Given the description of an element on the screen output the (x, y) to click on. 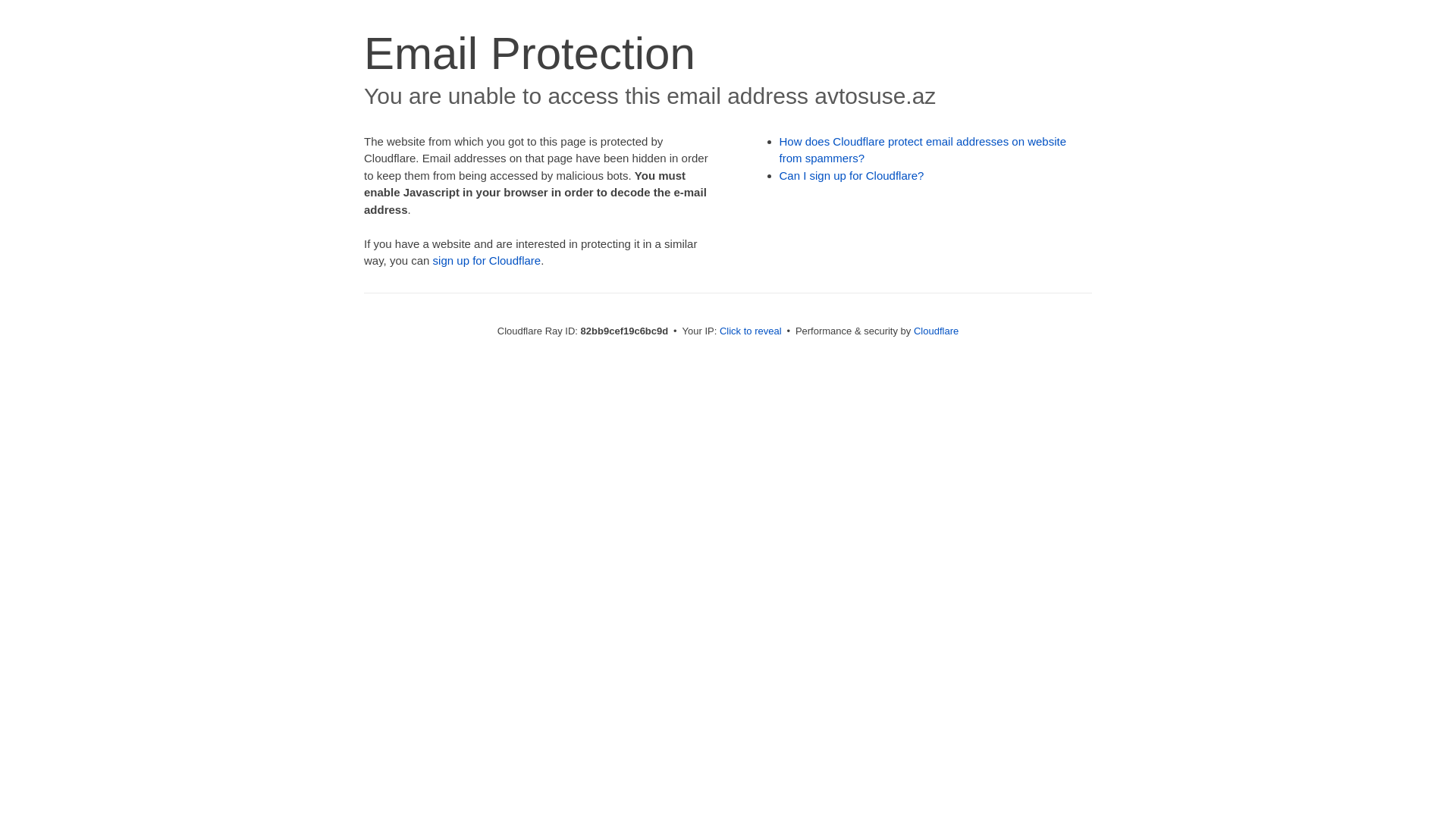
Click to reveal Element type: text (750, 330)
Cloudflare Element type: text (935, 330)
sign up for Cloudflare Element type: text (487, 260)
Can I sign up for Cloudflare? Element type: text (851, 175)
